Given the description of an element on the screen output the (x, y) to click on. 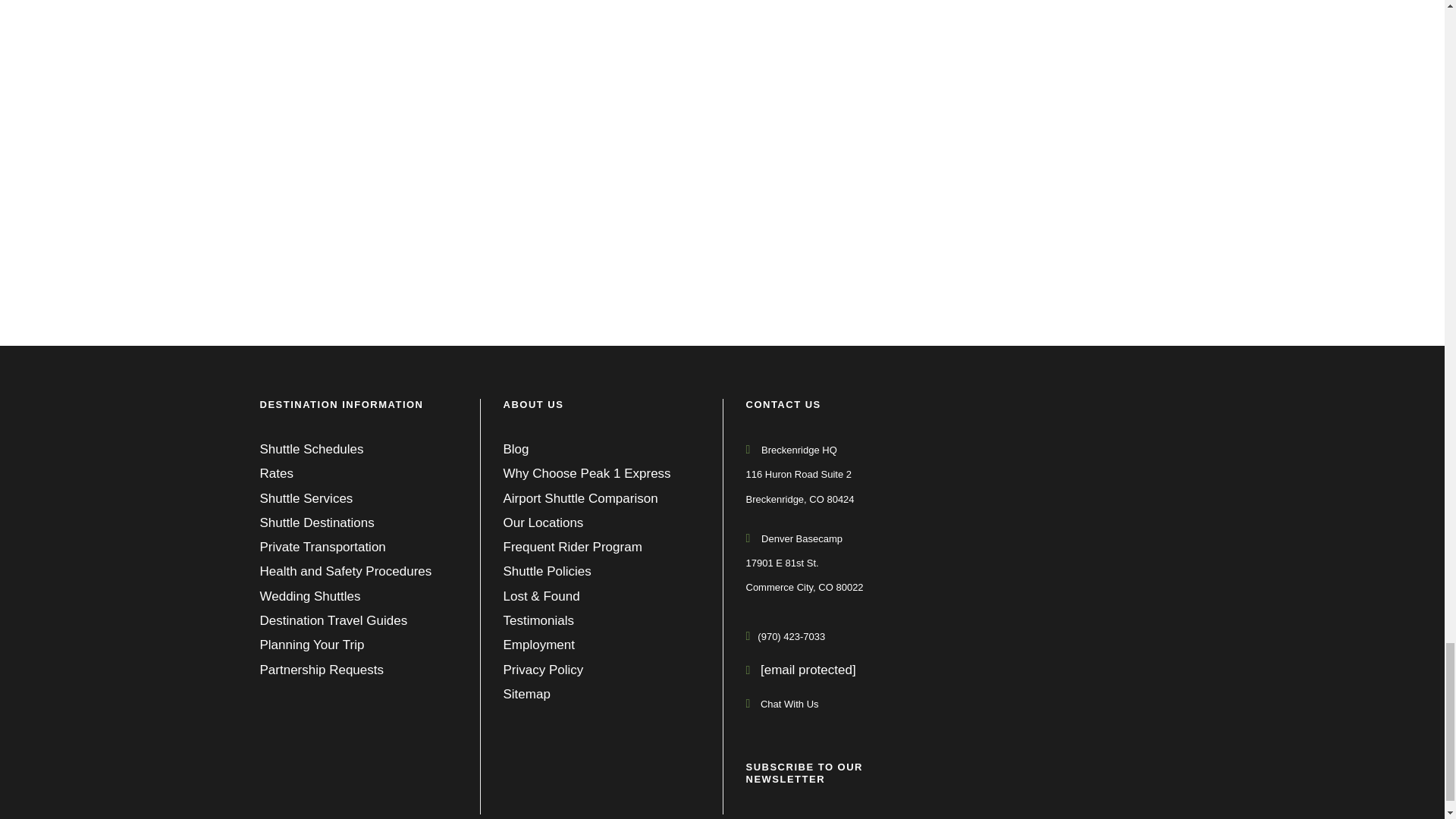
DenverAirporttoBreckThumbnail (478, 147)
